Given the description of an element on the screen output the (x, y) to click on. 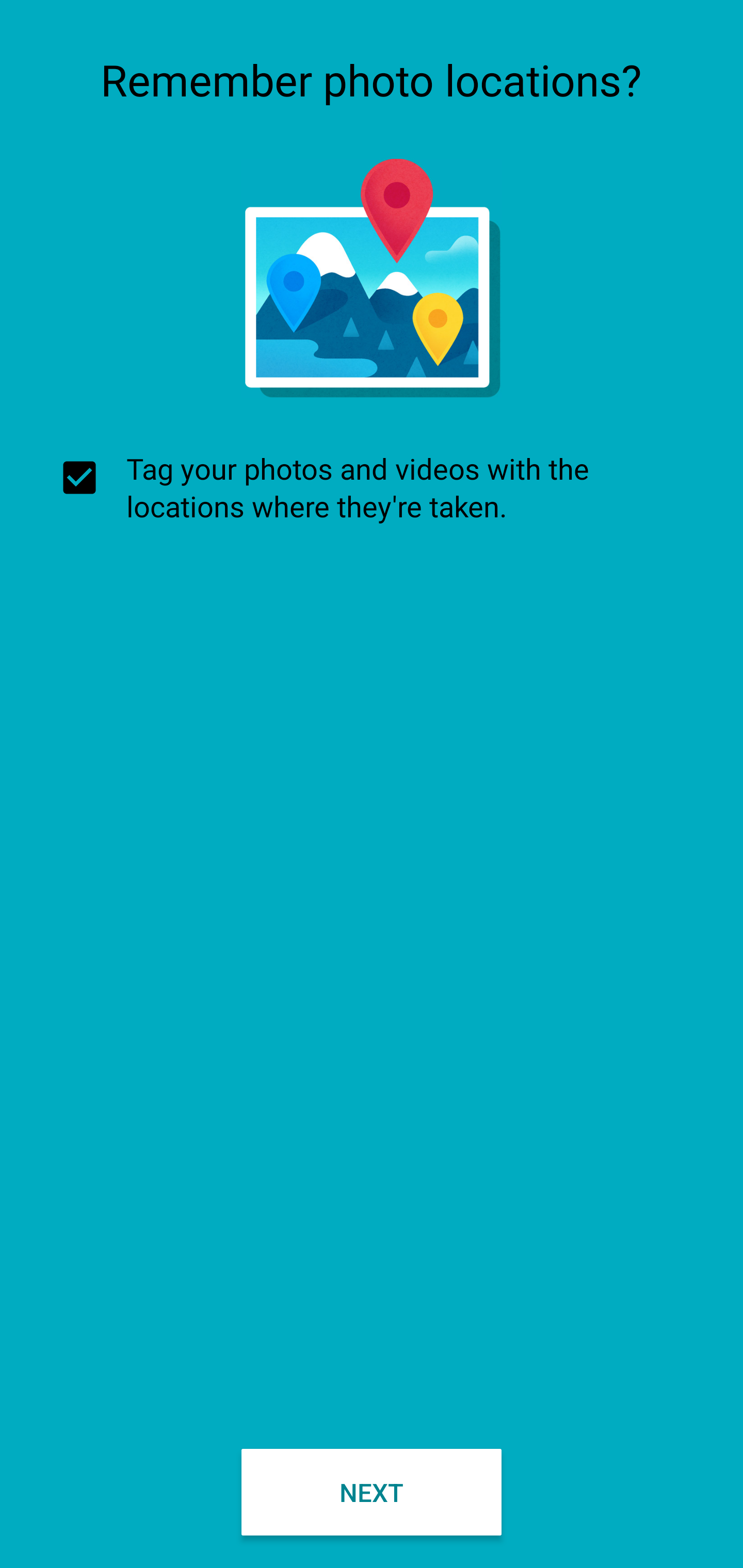
NEXT (371, 1491)
